Given the description of an element on the screen output the (x, y) to click on. 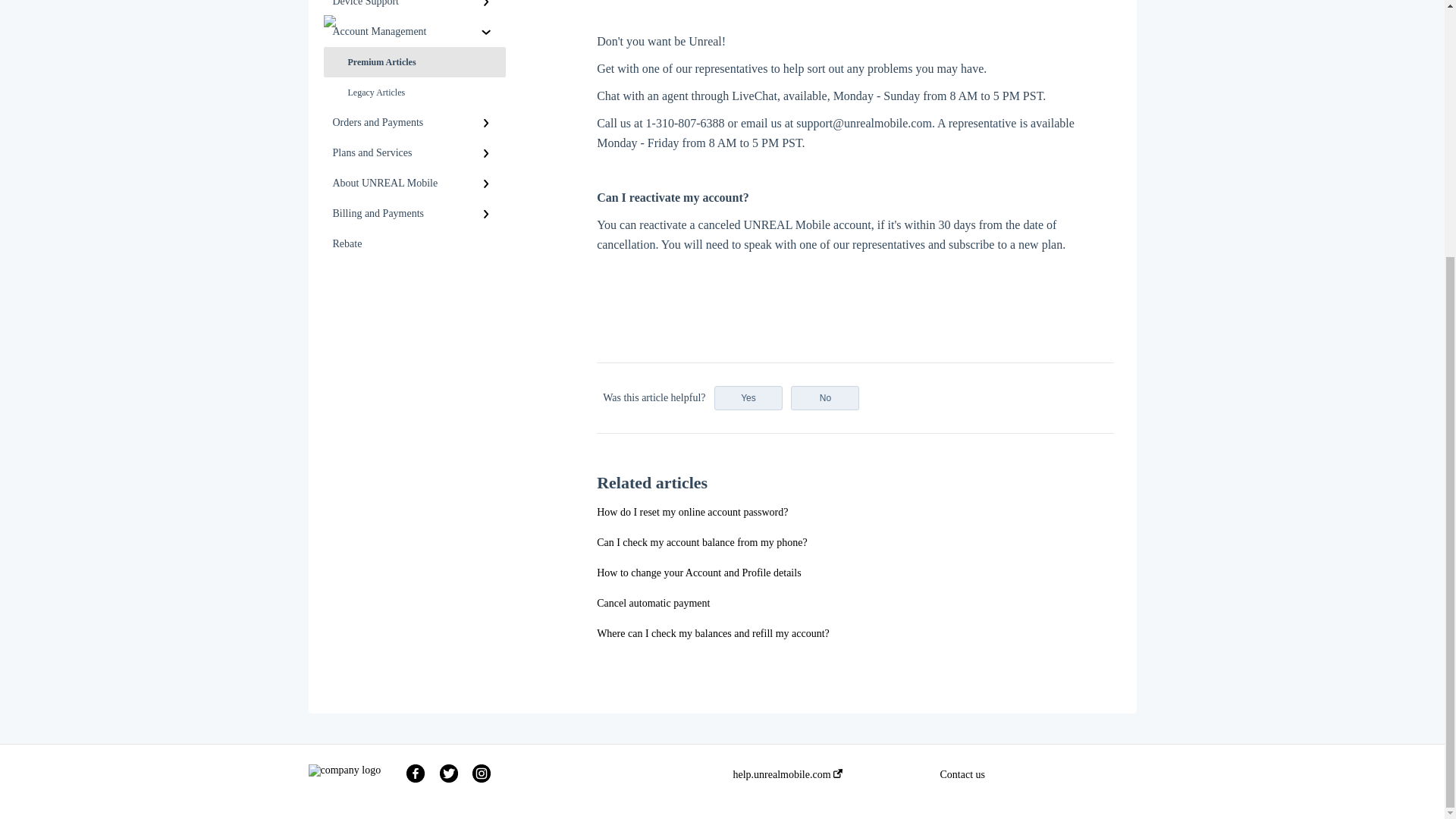
Account Management (414, 31)
Legacy Articles (414, 91)
Device Support (414, 8)
Premium Articles (414, 61)
Orders and Payments (414, 122)
